Given the description of an element on the screen output the (x, y) to click on. 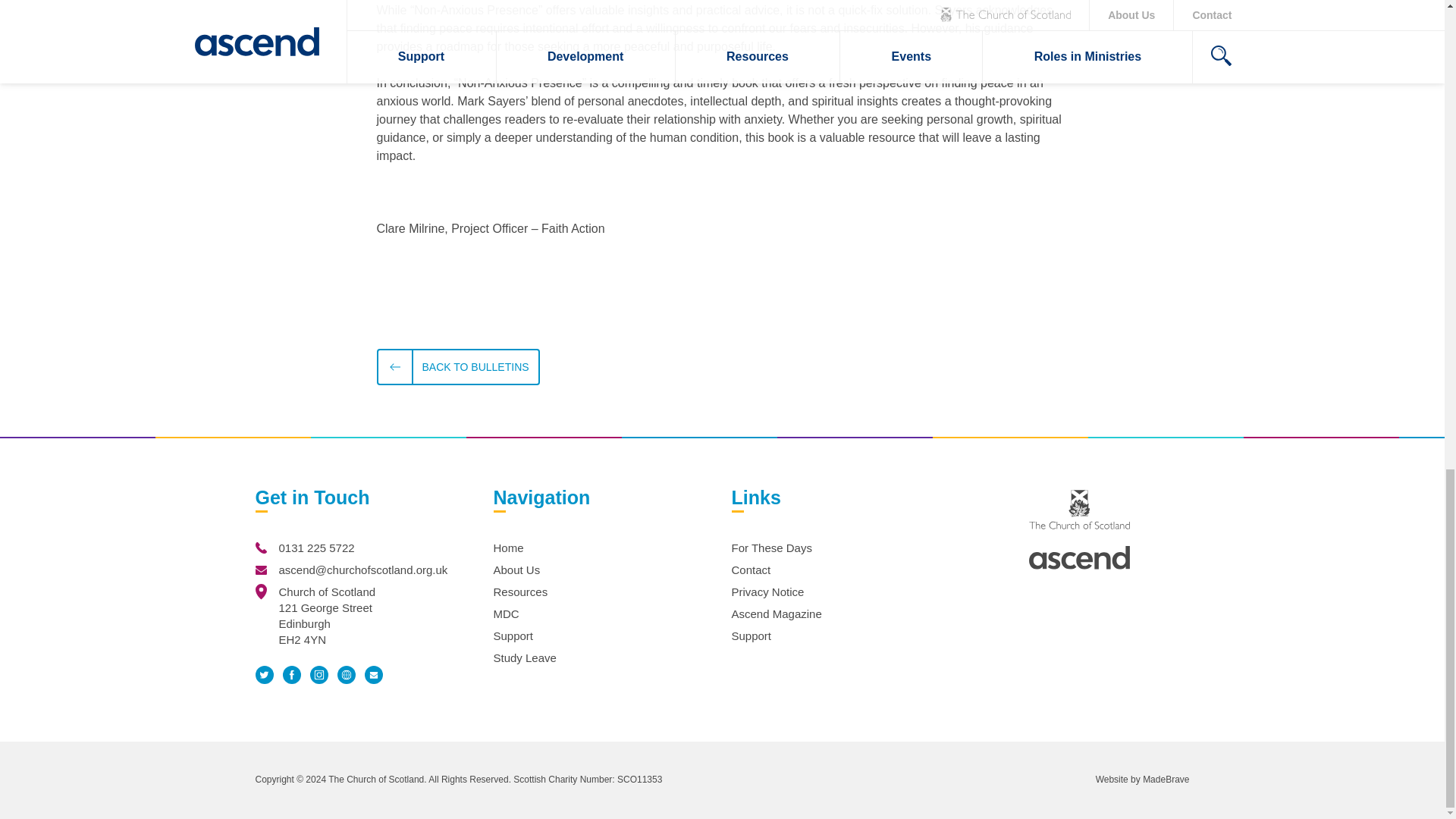
Email us (260, 569)
0131 225 5722 (317, 548)
About Us (516, 570)
Twitter (264, 674)
Home (507, 548)
Instagram (318, 675)
Ascend Logo (1079, 557)
church-of-scotland-learning.circle.so (345, 675)
Email (373, 674)
Church of Scotland (1079, 509)
